Given the description of an element on the screen output the (x, y) to click on. 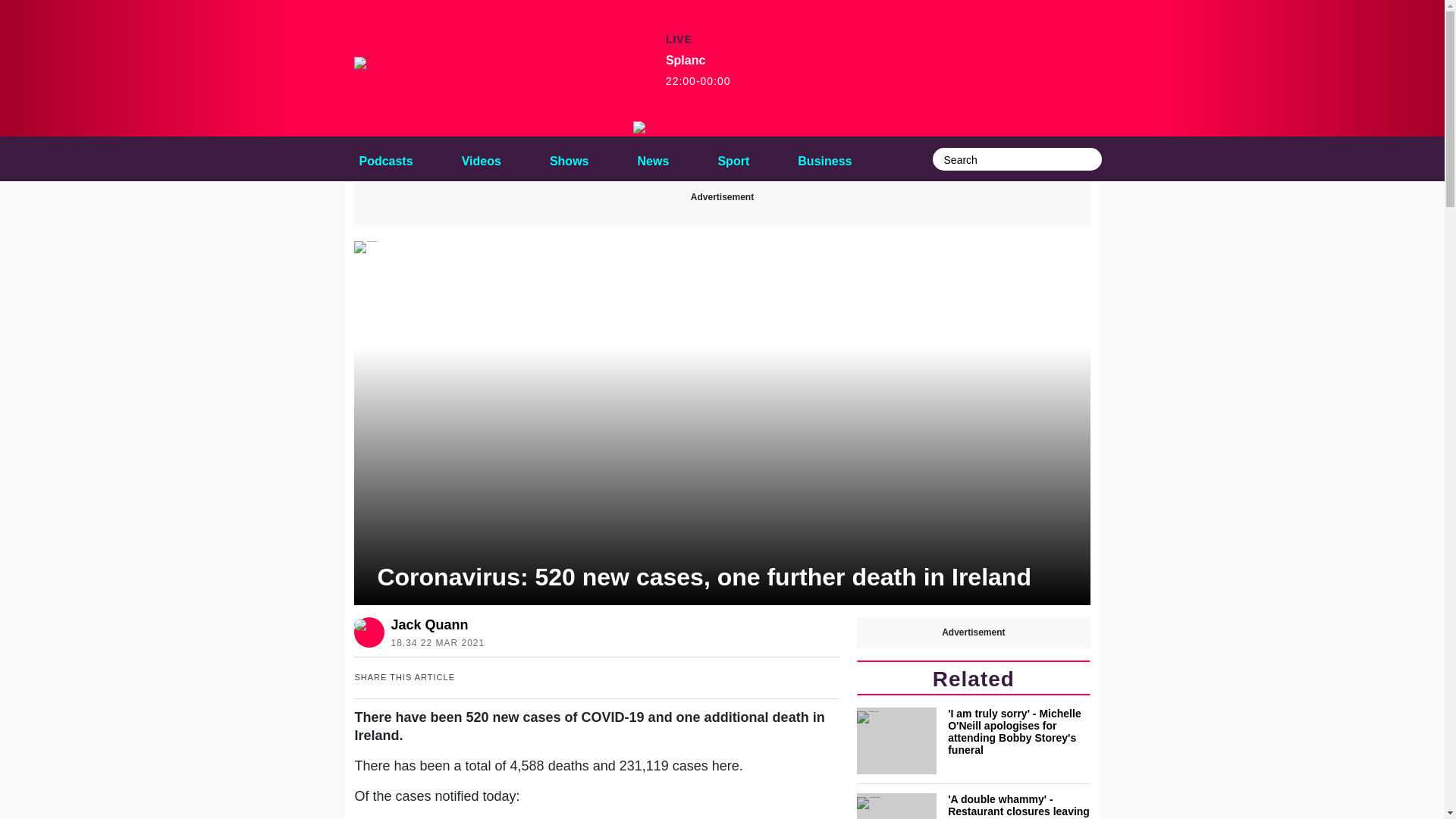
Shows (569, 158)
Videos (697, 70)
Splanc (481, 158)
Business (640, 127)
News (824, 158)
Sport (653, 158)
Jack Quann (733, 158)
Videos (434, 624)
